Given the description of an element on the screen output the (x, y) to click on. 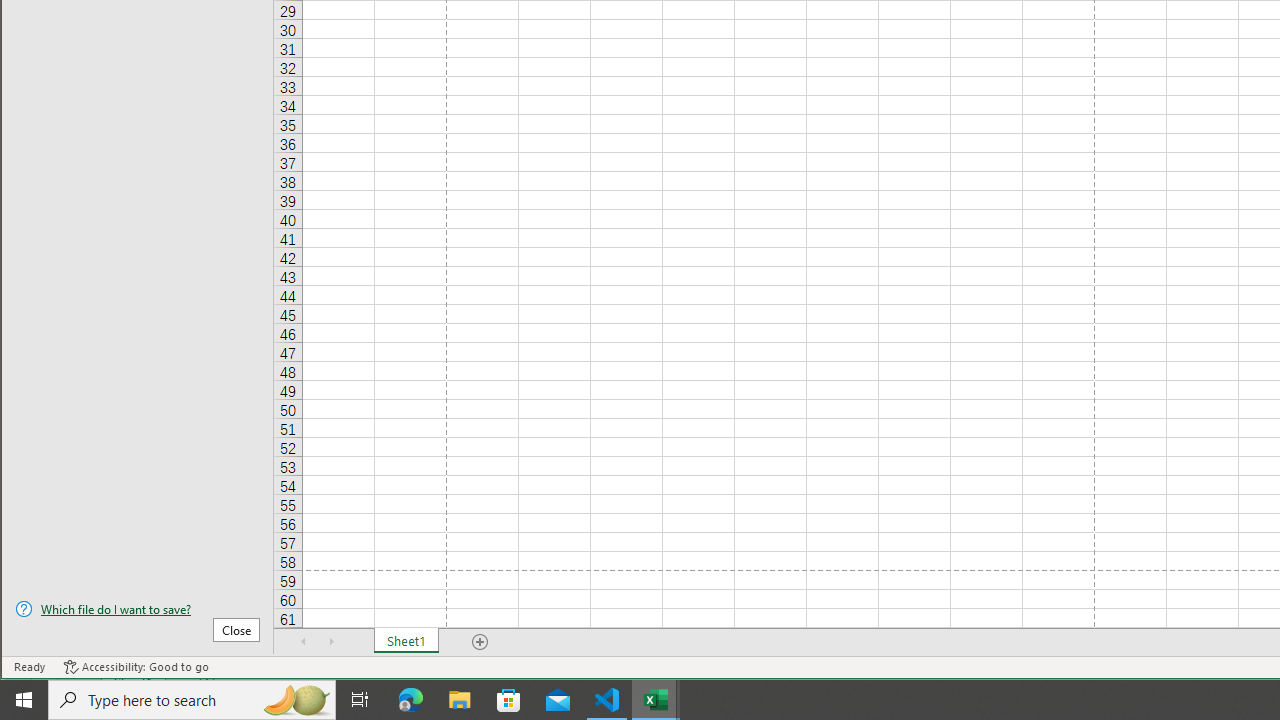
Microsoft Edge (411, 699)
